Given the description of an element on the screen output the (x, y) to click on. 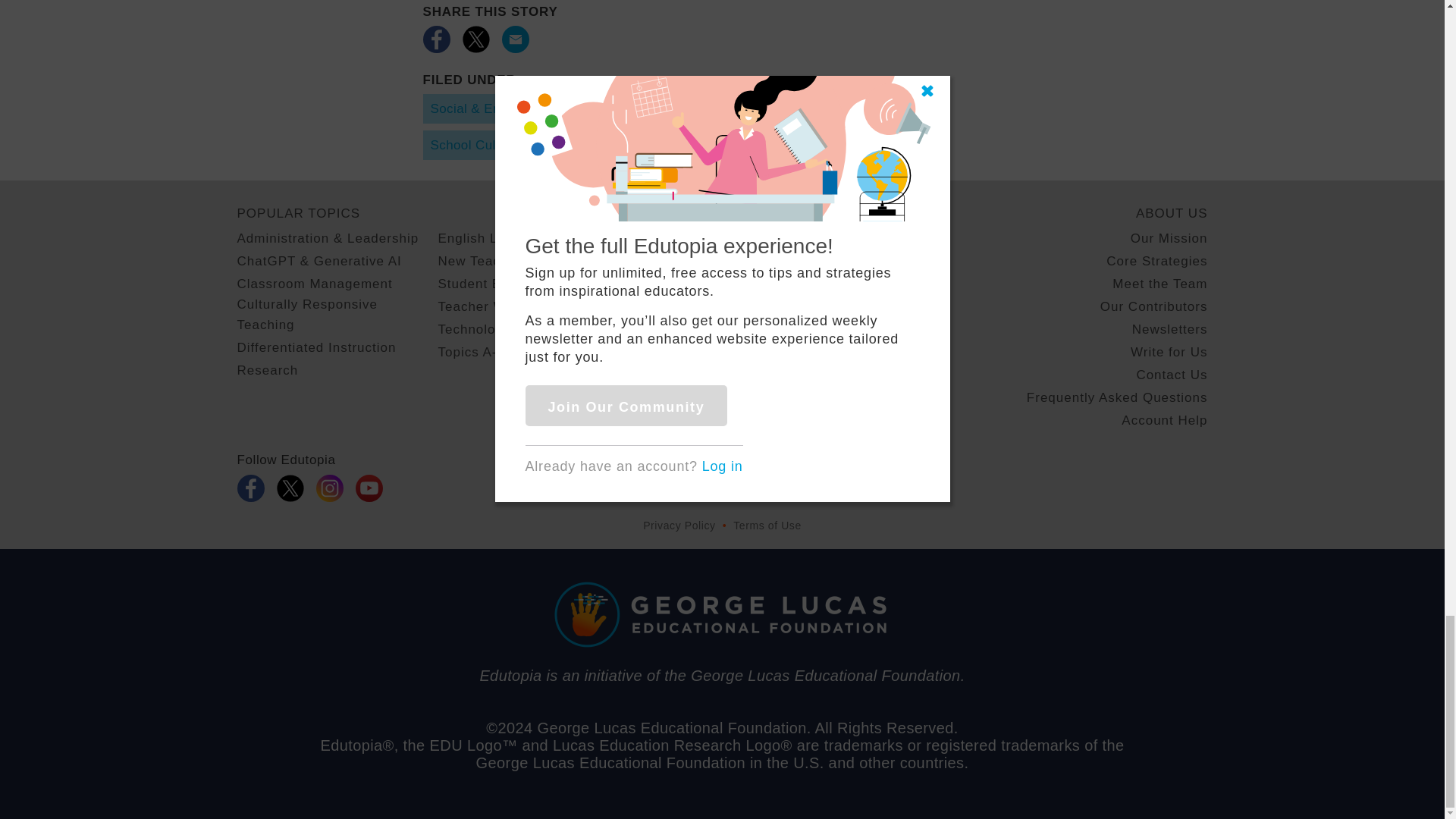
Education Equity (848, 108)
Bullying Prevention (717, 108)
School Culture (475, 144)
